Given the description of an element on the screen output the (x, y) to click on. 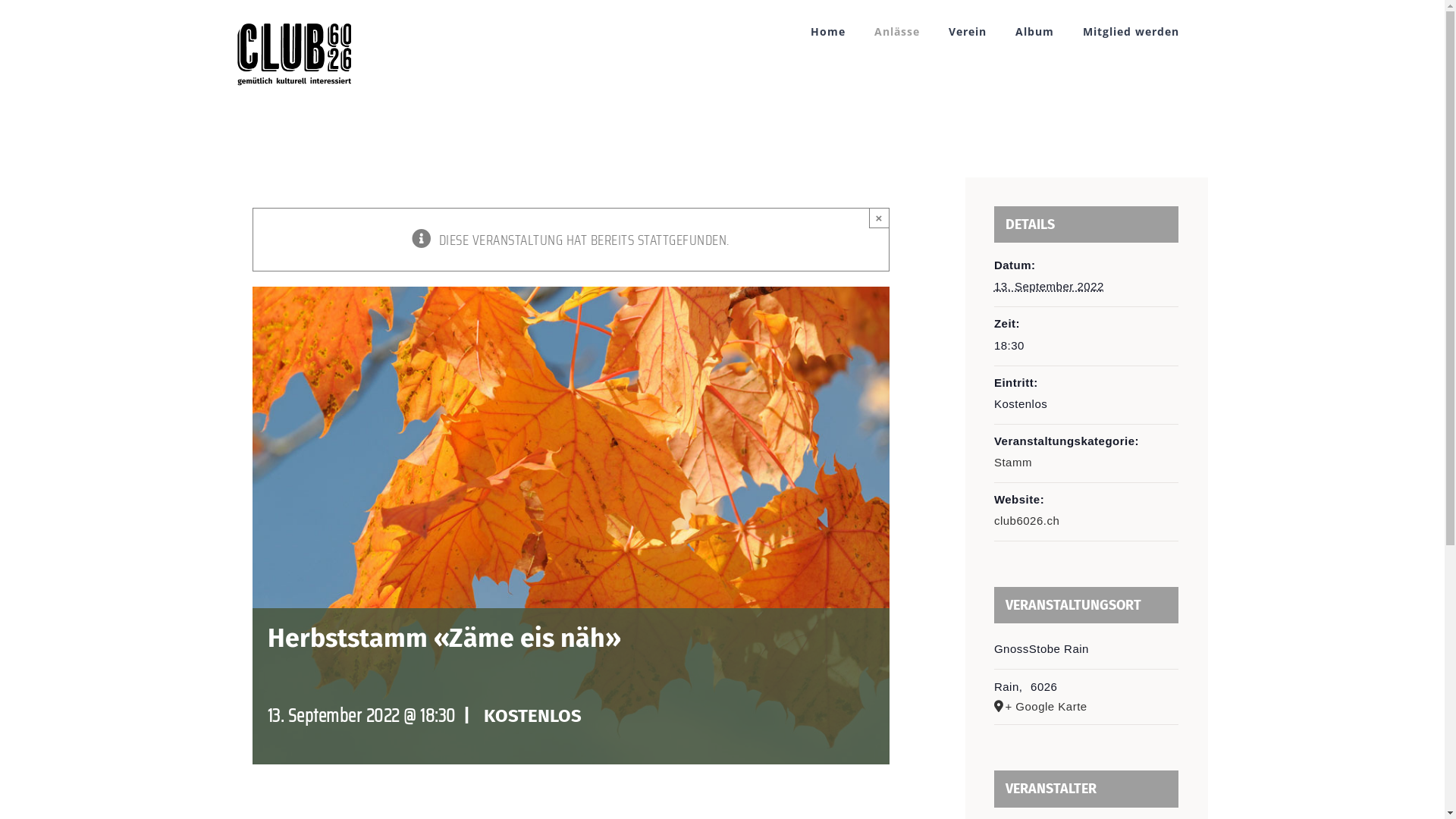
+ Google Karte Element type: text (1086, 706)
Stamm Element type: text (1013, 461)
Album Element type: text (1033, 31)
Verein Element type: text (966, 31)
Home Element type: text (826, 31)
club6026.ch Element type: text (1026, 520)
Mitglied werden Element type: text (1130, 31)
